Given the description of an element on the screen output the (x, y) to click on. 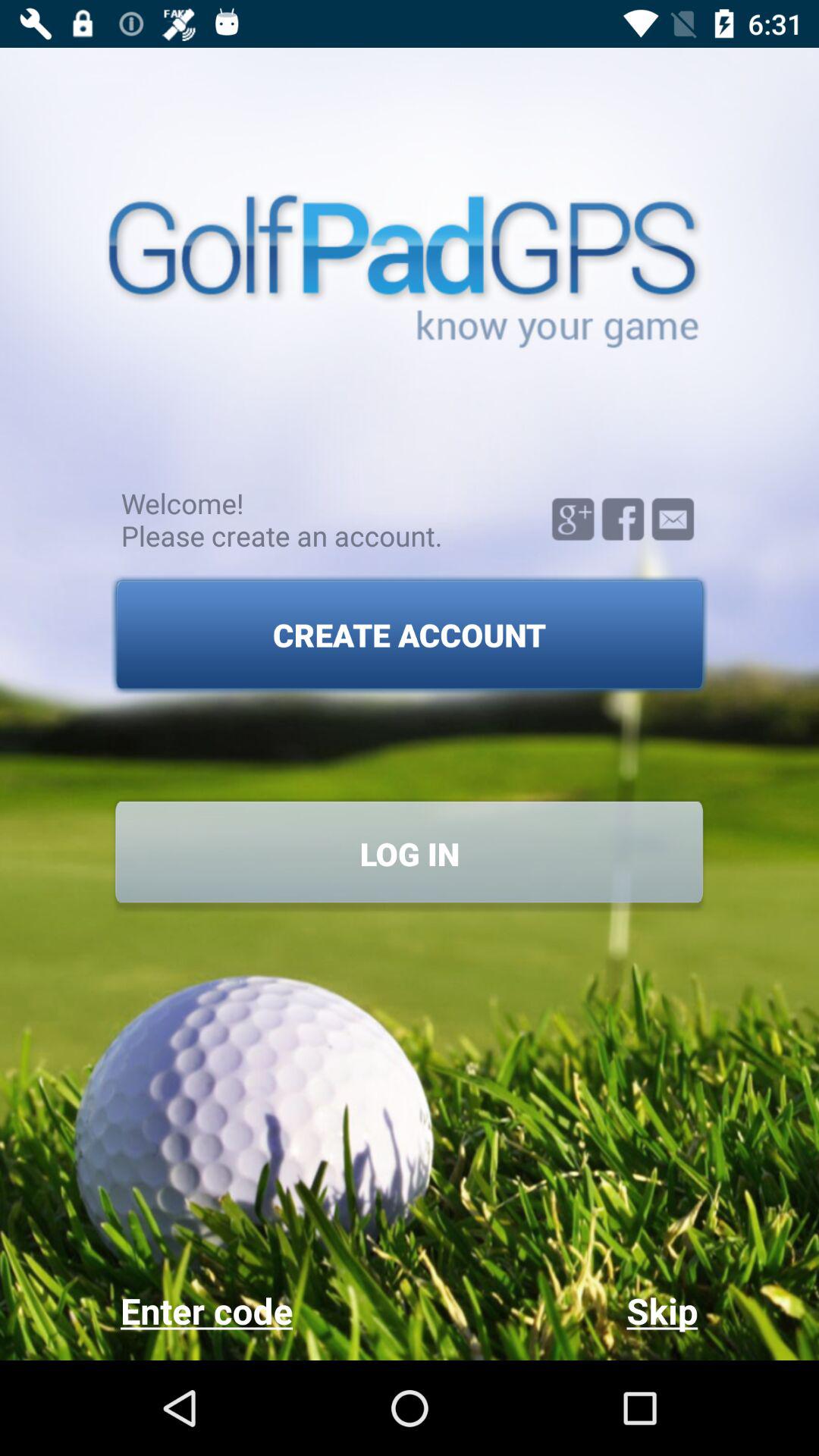
open the item below log in item (552, 1310)
